Given the description of an element on the screen output the (x, y) to click on. 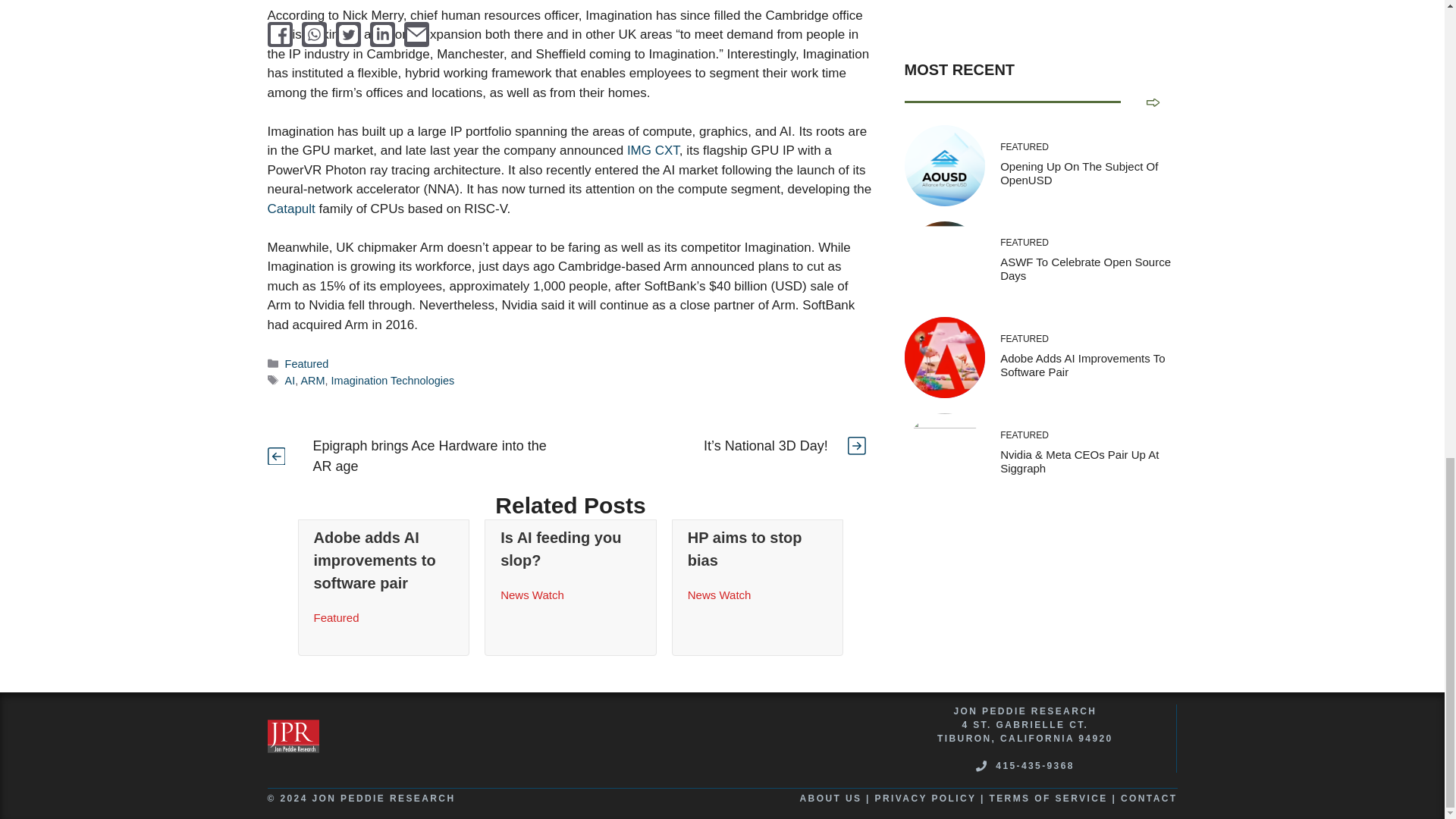
Imagination Technologies (392, 380)
IMG CXT (653, 150)
Featured (307, 363)
Catapult (290, 208)
ARM (311, 380)
Epigraph brings Ace Hardware into the AR age (429, 456)
